Given the description of an element on the screen output the (x, y) to click on. 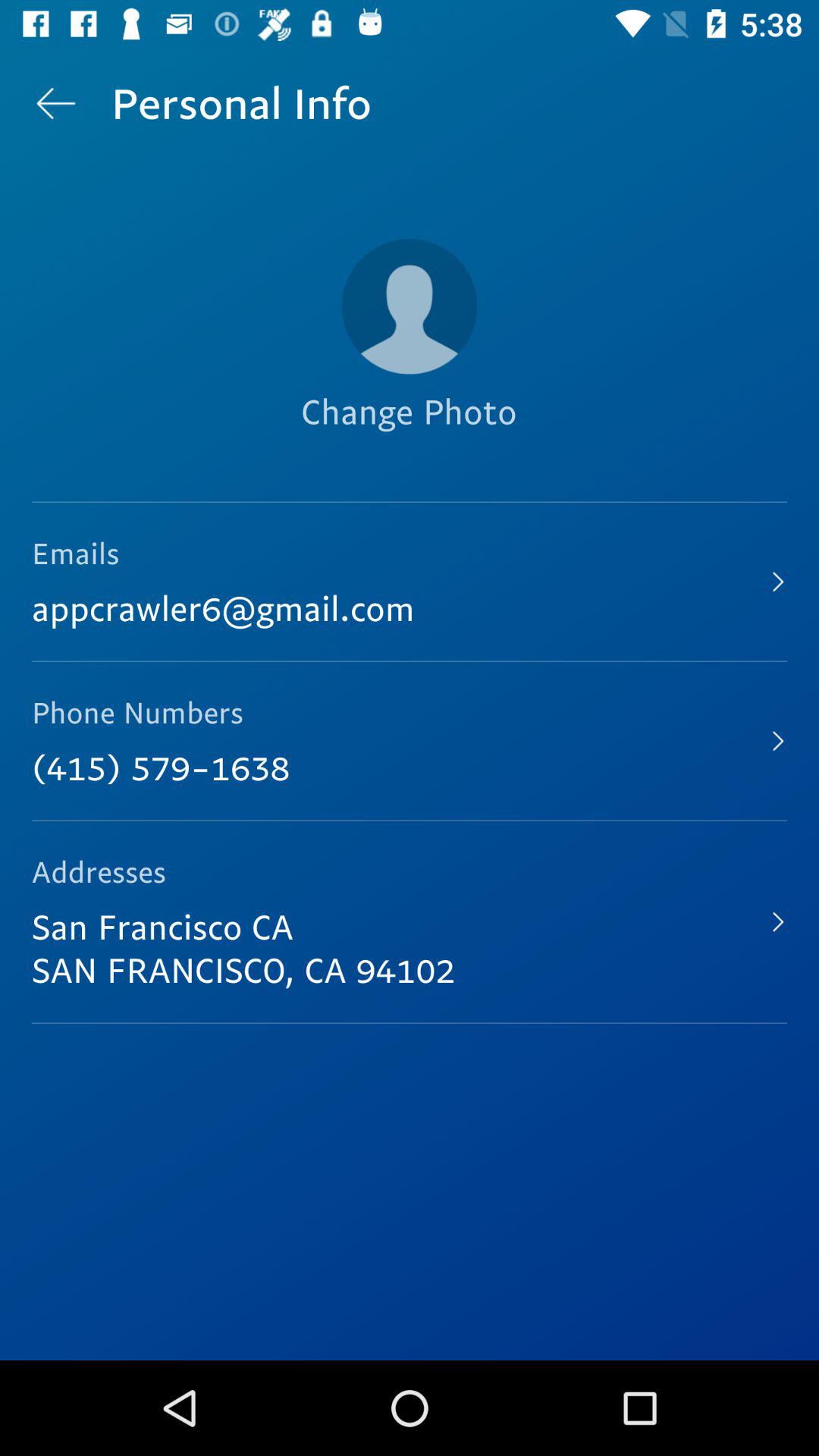
turn on the item above the emails icon (55, 103)
